Given the description of an element on the screen output the (x, y) to click on. 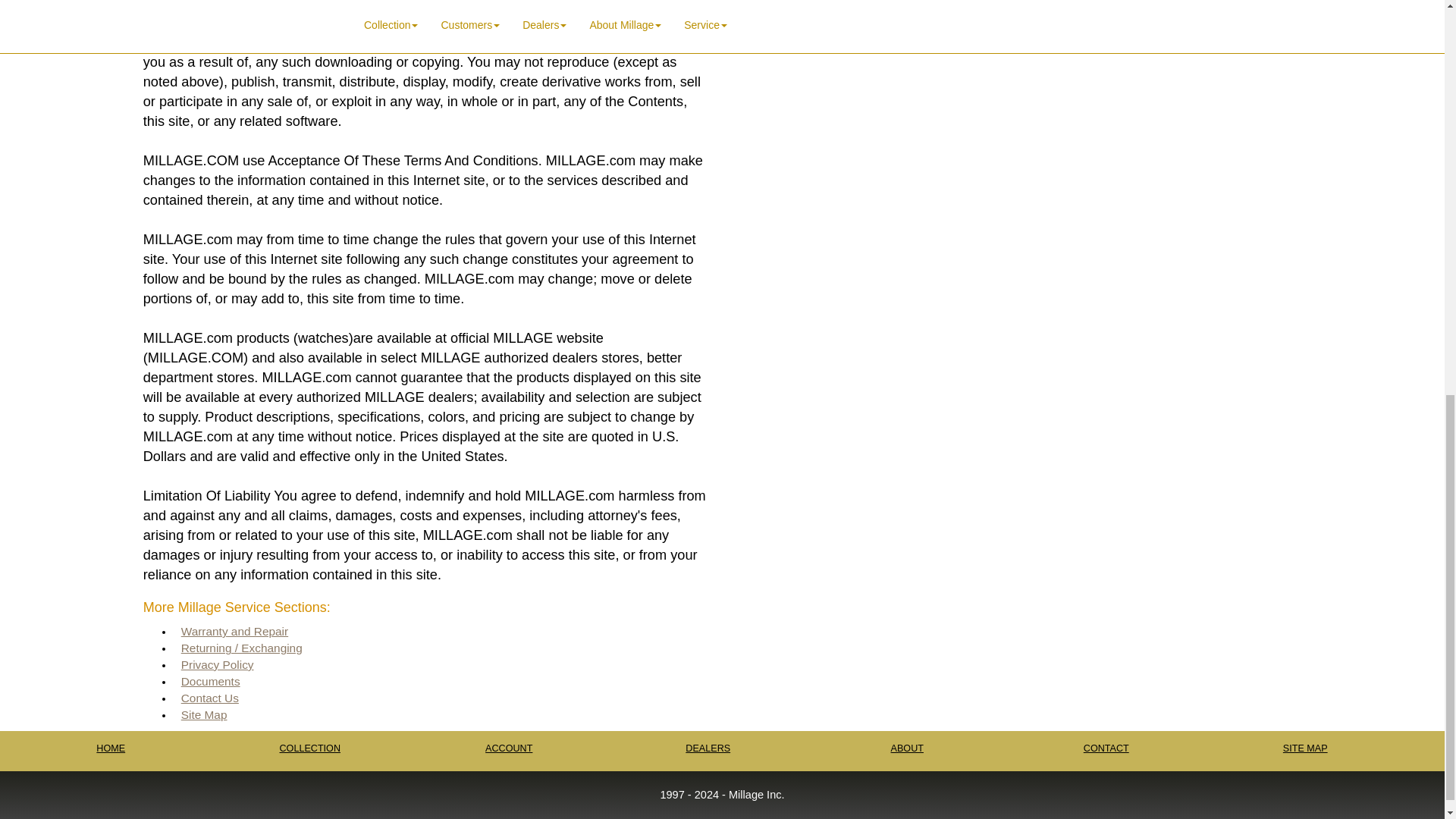
Documents (210, 681)
Warranty and Repair (234, 631)
Privacy Policy (217, 664)
Contact Us (209, 697)
Site Map (203, 714)
